Given the description of an element on the screen output the (x, y) to click on. 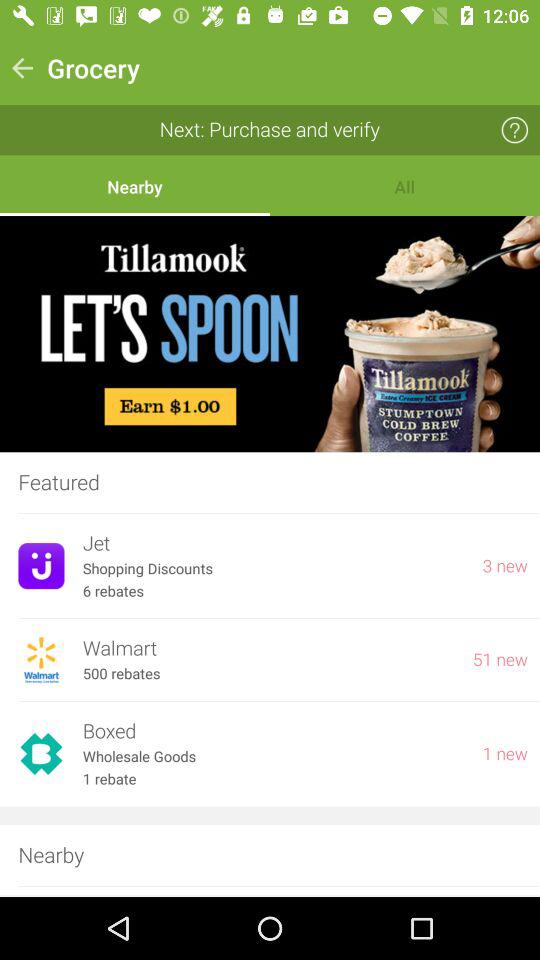
choose the icon below walmart icon (121, 673)
